Given the description of an element on the screen output the (x, y) to click on. 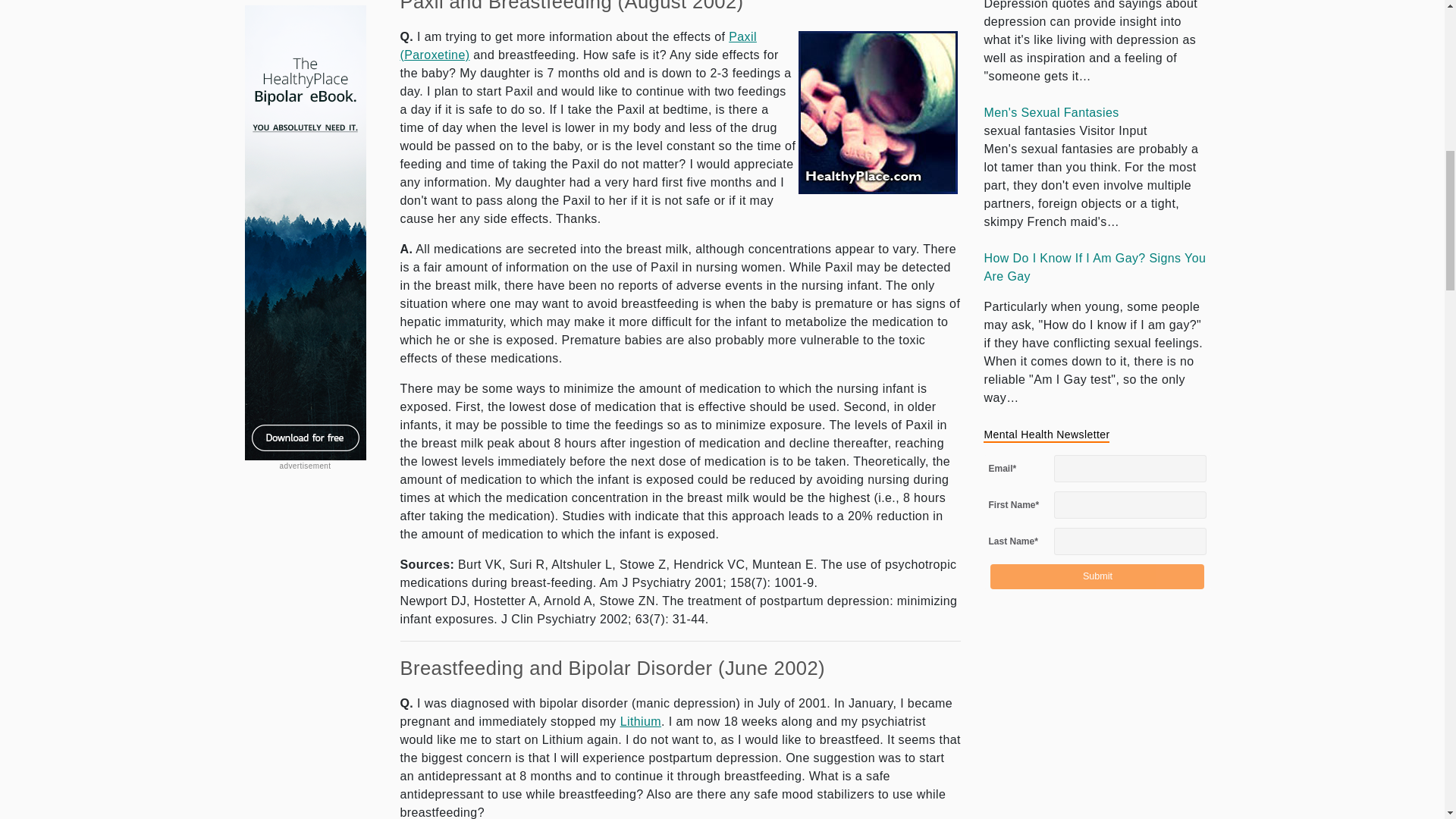
Submit (1097, 576)
